Given the description of an element on the screen output the (x, y) to click on. 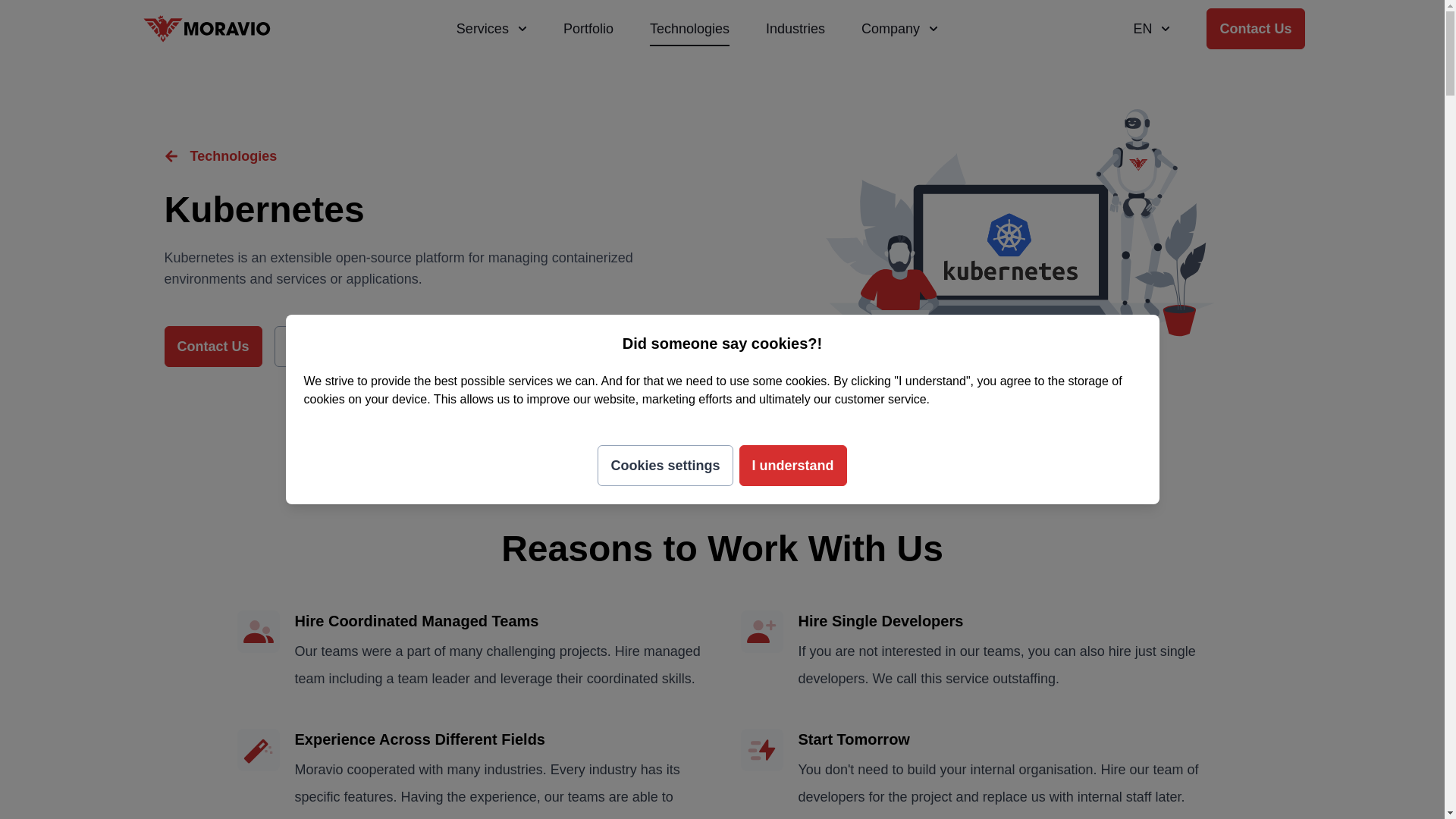
Contact Us (1255, 28)
Cookies settings (664, 465)
Industries (795, 28)
Company (899, 28)
Portfolio (588, 28)
Services (491, 28)
I understand (793, 465)
Technologies (689, 28)
